Given the description of an element on the screen output the (x, y) to click on. 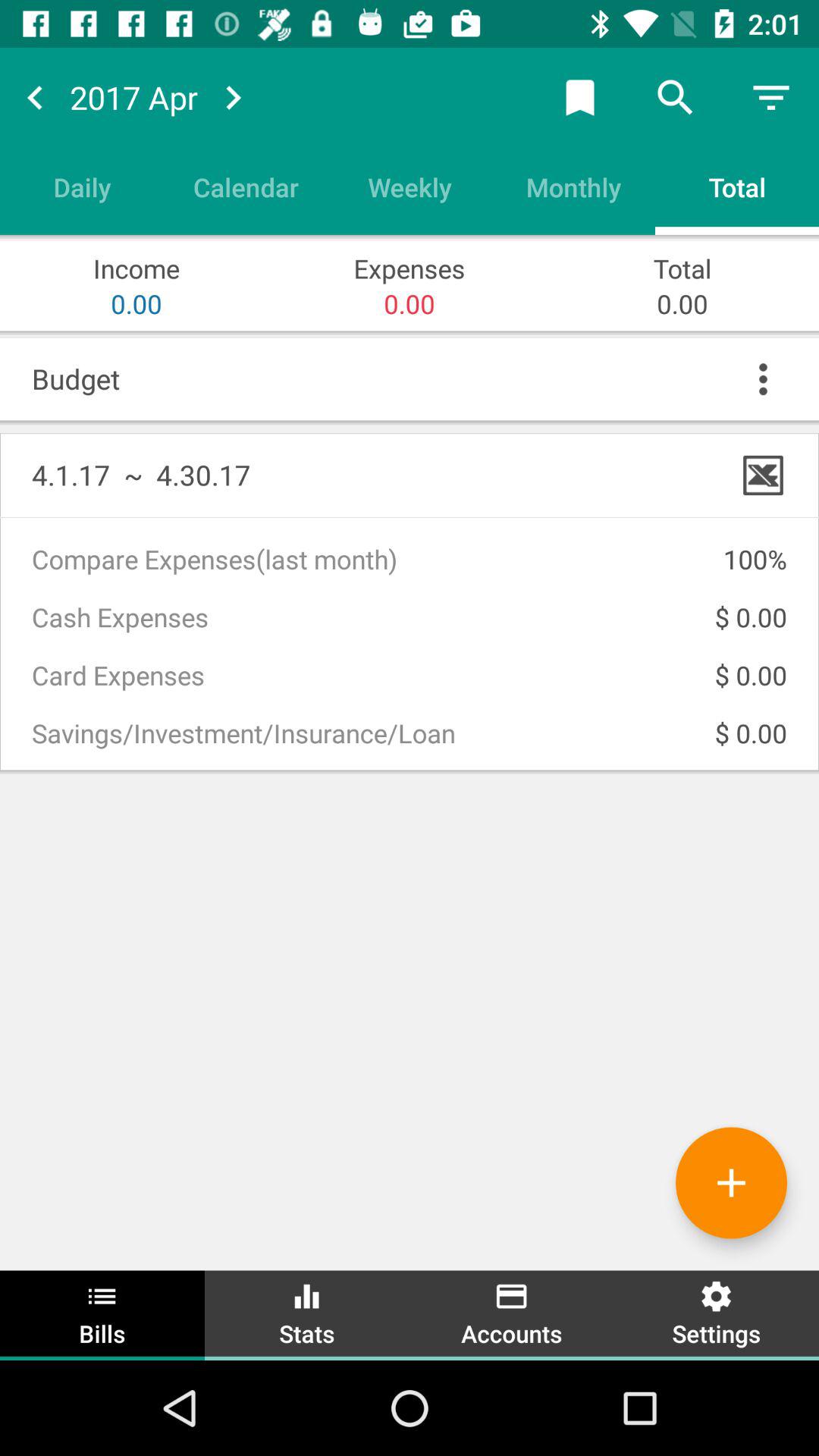
select the button left to the search button on the top (580, 97)
click on more button (763, 378)
select the option stats (306, 1313)
click on the search button at top right (675, 97)
click on the option which is beside accounts (716, 1313)
